Given the description of an element on the screen output the (x, y) to click on. 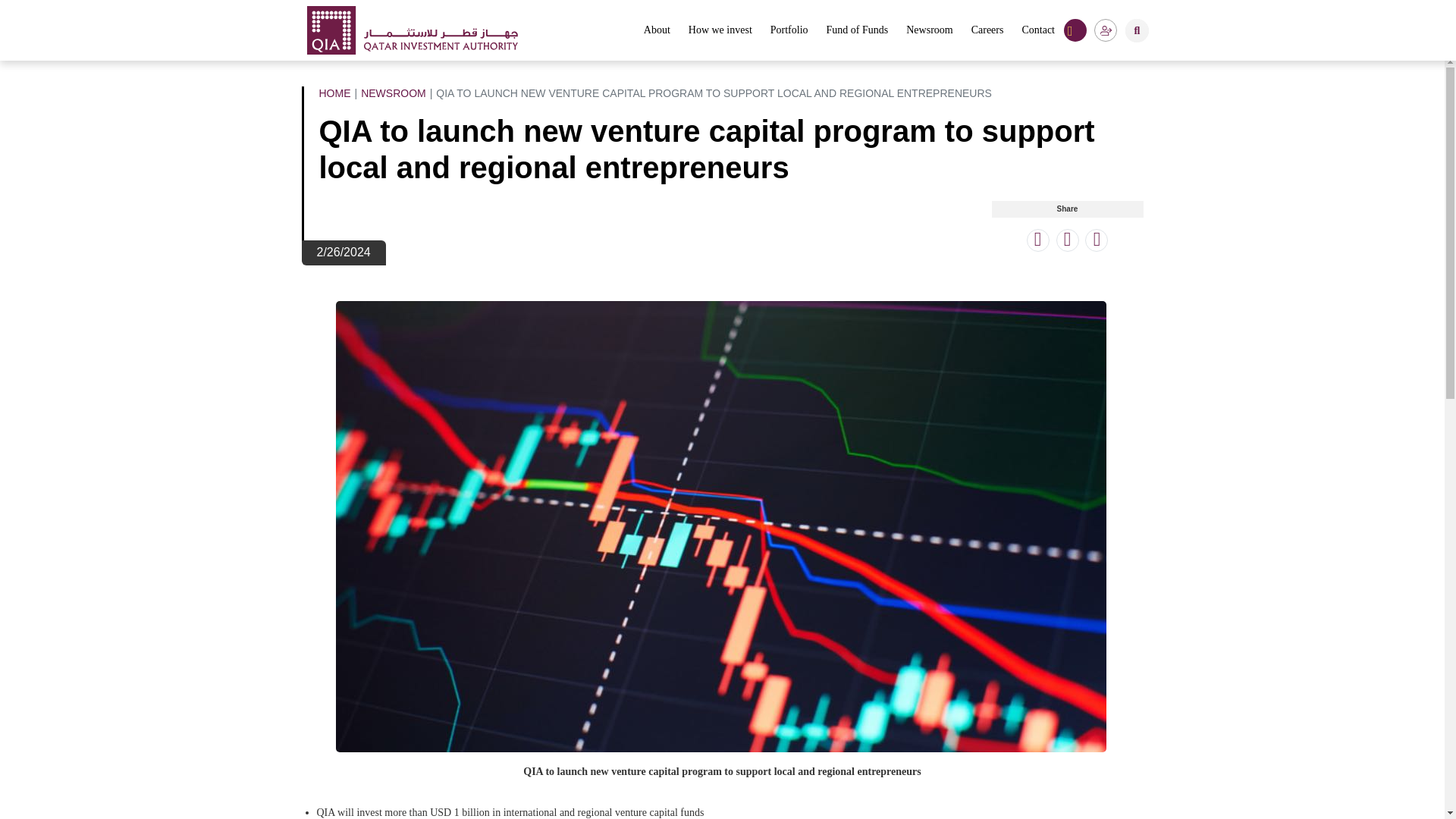
GO (1116, 30)
About (656, 29)
Portfolio (788, 29)
How we invest (720, 29)
GO (1116, 30)
About Us (656, 29)
